Given the description of an element on the screen output the (x, y) to click on. 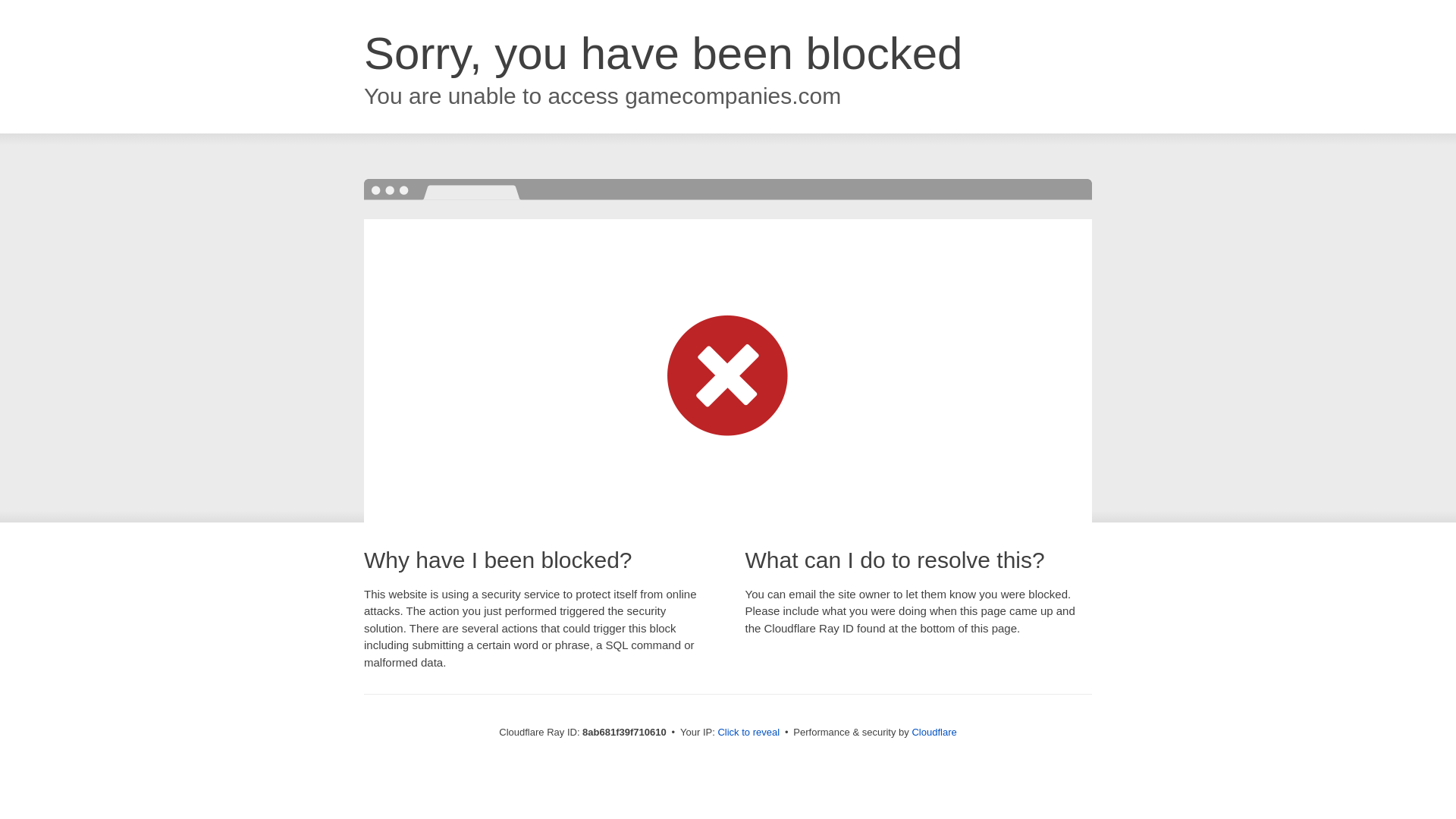
Cloudflare (933, 731)
Click to reveal (747, 732)
